Given the description of an element on the screen output the (x, y) to click on. 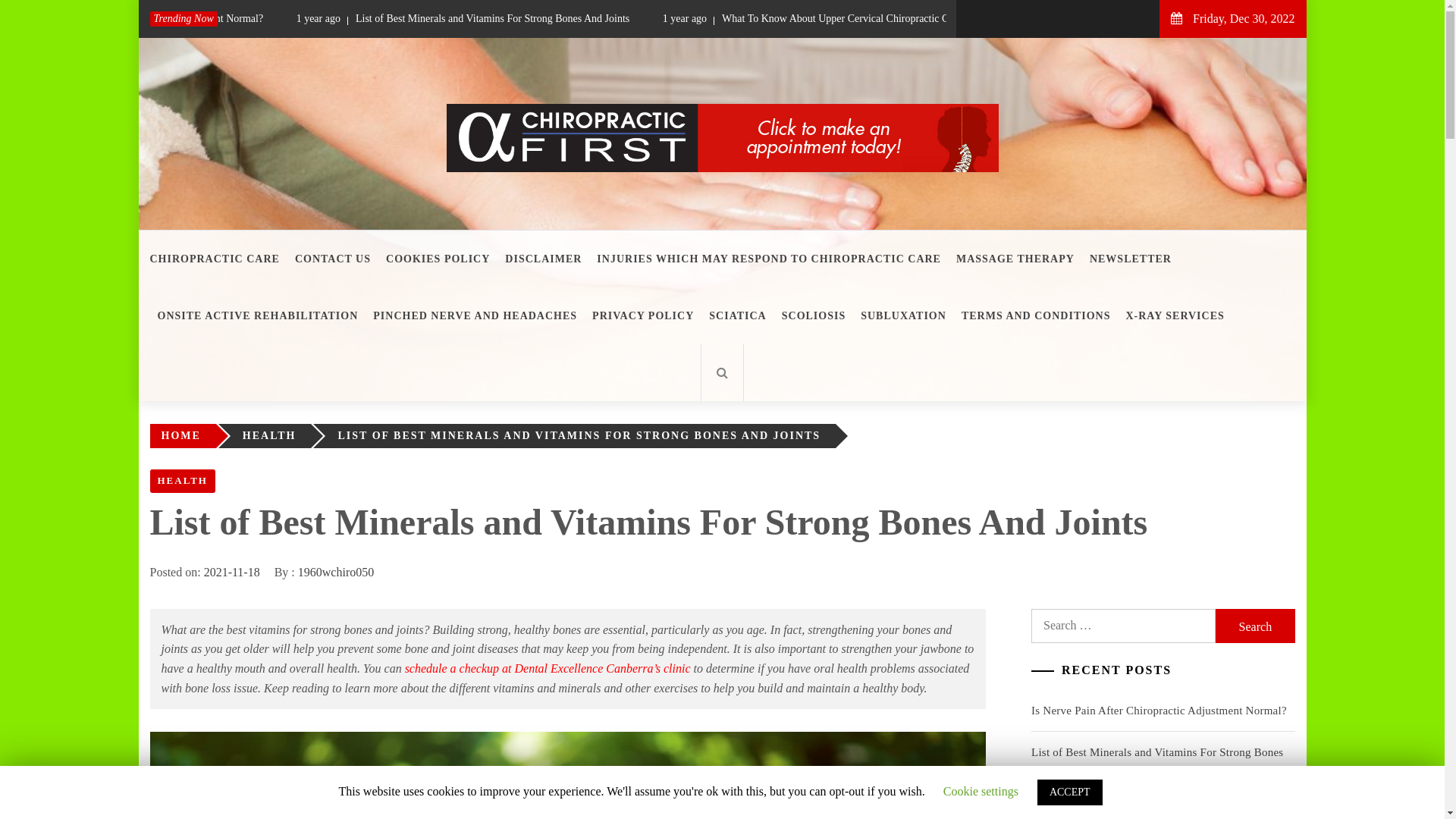
HOME Element type: text (183, 435)
MASSAGE THERAPY Element type: text (1015, 258)
Search Element type: text (1254, 625)
X-RAY SERVICES Element type: text (1174, 315)
2021-11-18 Element type: text (231, 571)
INJURIES WHICH MAY RESPOND TO CHIROPRACTIC CARE Element type: text (768, 258)
COOKIES POLICY Element type: text (437, 258)
PINCHED NERVE AND HEADACHES Element type: text (474, 315)
SCIATICA Element type: text (737, 315)
TERMS AND CONDITIONS Element type: text (1035, 315)
CONTACT US Element type: text (332, 258)
PRIVACY POLICY Element type: text (642, 315)
DISCLAIMER Element type: text (543, 258)
NEWSLETTER Element type: text (1130, 258)
CHIROPRACTIC CARE Element type: text (218, 258)
Is Nerve Pain After Chiropractic Adjustment Normal? Element type: text (1158, 710)
Search Element type: text (797, 37)
HEALTH Element type: text (182, 480)
SCOLIOSIS Element type: text (813, 315)
HEALTH Element type: text (273, 435)
Is Nerve Pain After Chiropractic Adjustment Normal? Element type: text (160, 18)
SUBLUXATION Element type: text (903, 315)
1960wchiro050 Element type: text (335, 571)
ACCEPT Element type: text (1069, 792)
ONSITE ACTIVE REHABILITATION Element type: text (258, 315)
Cookie settings Element type: text (980, 790)
